Given the description of an element on the screen output the (x, y) to click on. 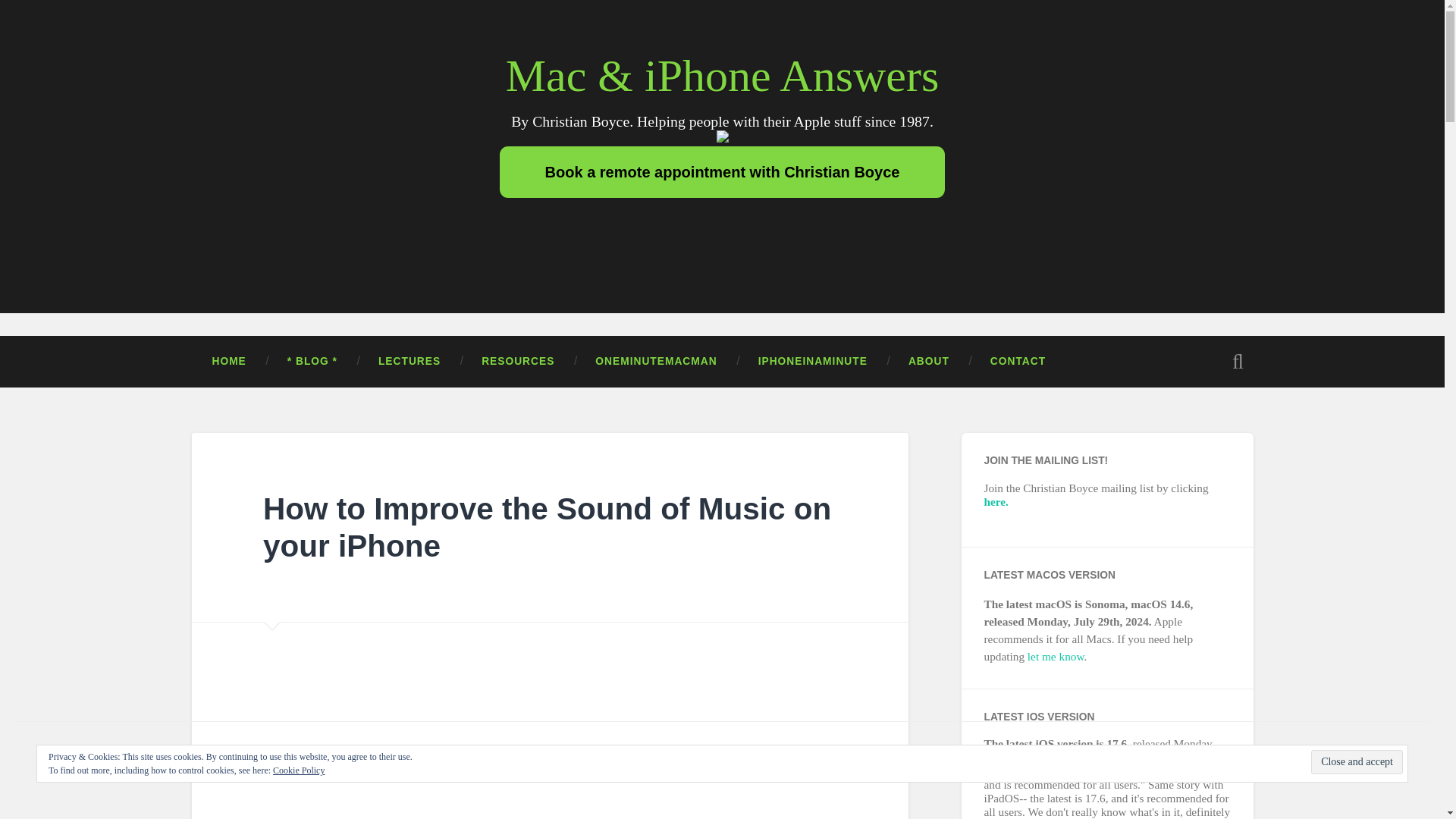
LinkedIn (737, 225)
IPHONEINAMINUTE (813, 361)
HOME (228, 361)
ABOUT (928, 361)
Close and accept (1357, 761)
RESOURCES (518, 361)
Facebook (706, 225)
CONTACT (1017, 361)
How to Improve the Sound of Music on your iPhone (547, 527)
Open Search (1237, 361)
LECTURES (409, 361)
Book a remote appointment with Christian Boyce (722, 172)
ONEMINUTEMACMAN (655, 361)
